Given the description of an element on the screen output the (x, y) to click on. 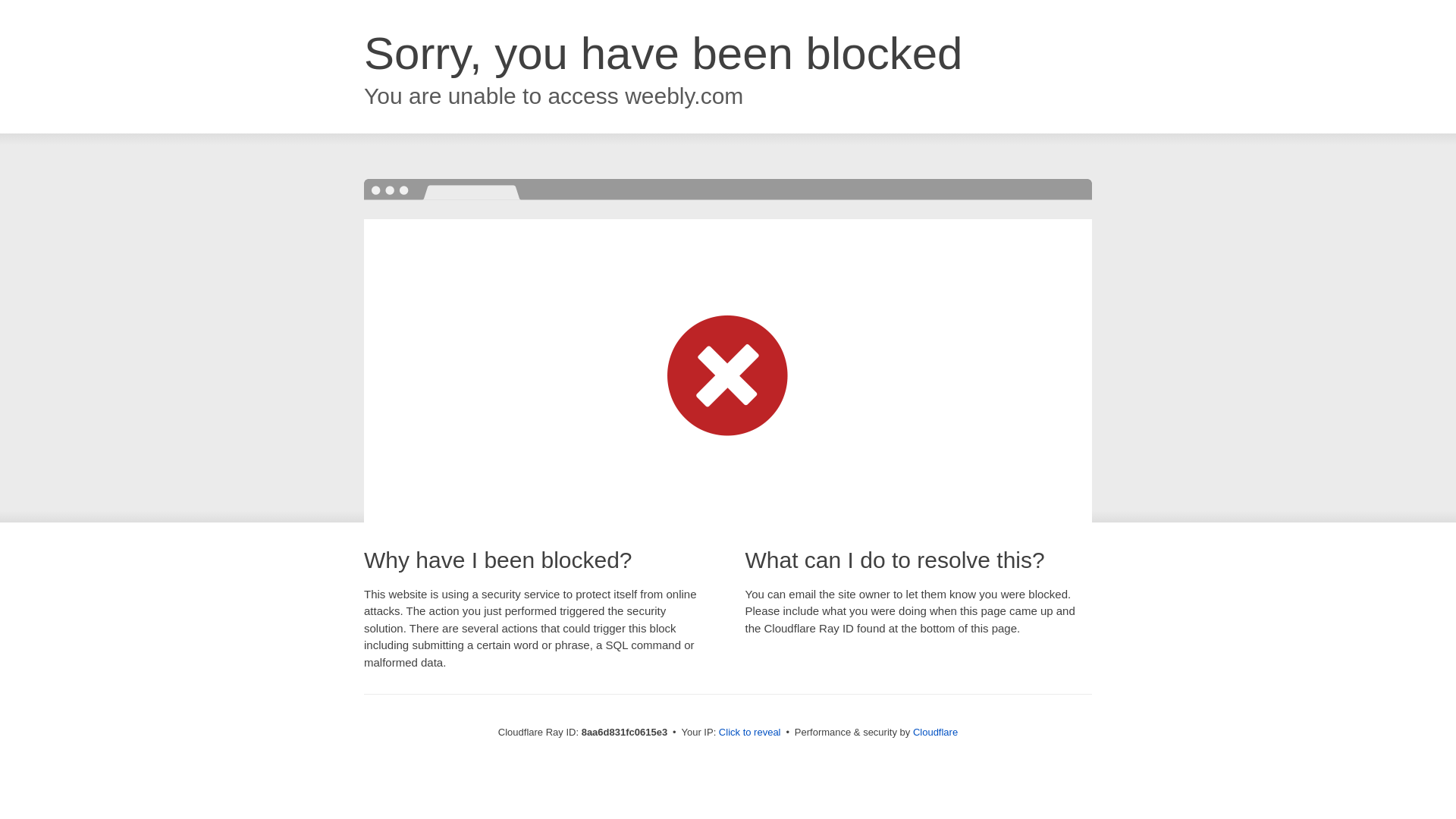
Cloudflare (935, 731)
Click to reveal (749, 732)
